Given the description of an element on the screen output the (x, y) to click on. 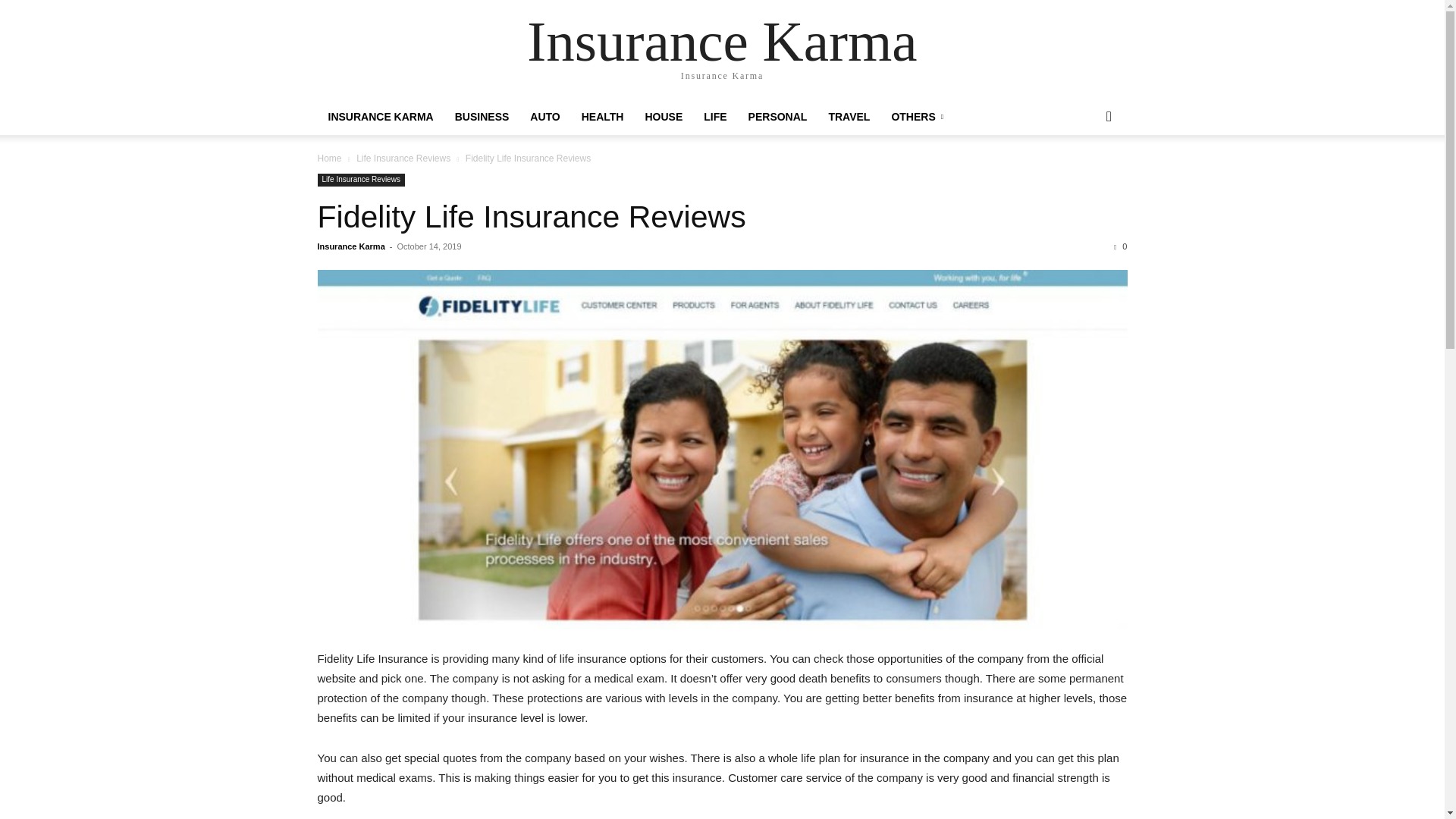
Fidelity Life Insurance Reviews (531, 216)
LIFE (714, 116)
Insurance Karma (722, 41)
HOUSE (663, 116)
OTHERS (916, 116)
PERSONAL (778, 116)
HEALTH (602, 116)
INSURANCE KARMA (380, 116)
AUTO (544, 116)
TRAVEL (848, 116)
BUSINESS (481, 116)
View all posts in Life Insurance Reviews (402, 158)
